Given the description of an element on the screen output the (x, y) to click on. 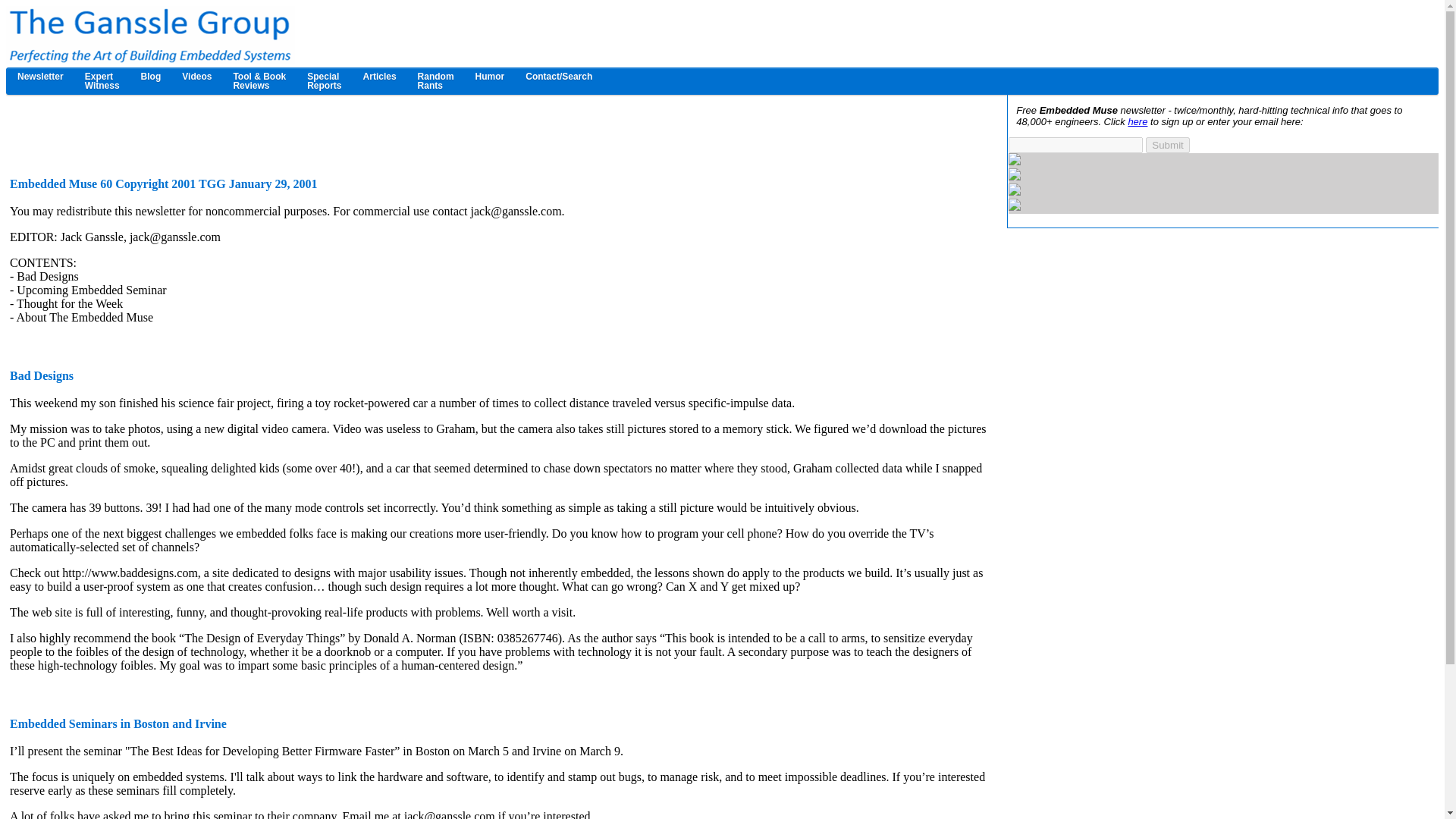
Videos (196, 76)
Blog (151, 76)
Articles (379, 76)
Newsletter (40, 76)
Submit (324, 80)
